Given the description of an element on the screen output the (x, y) to click on. 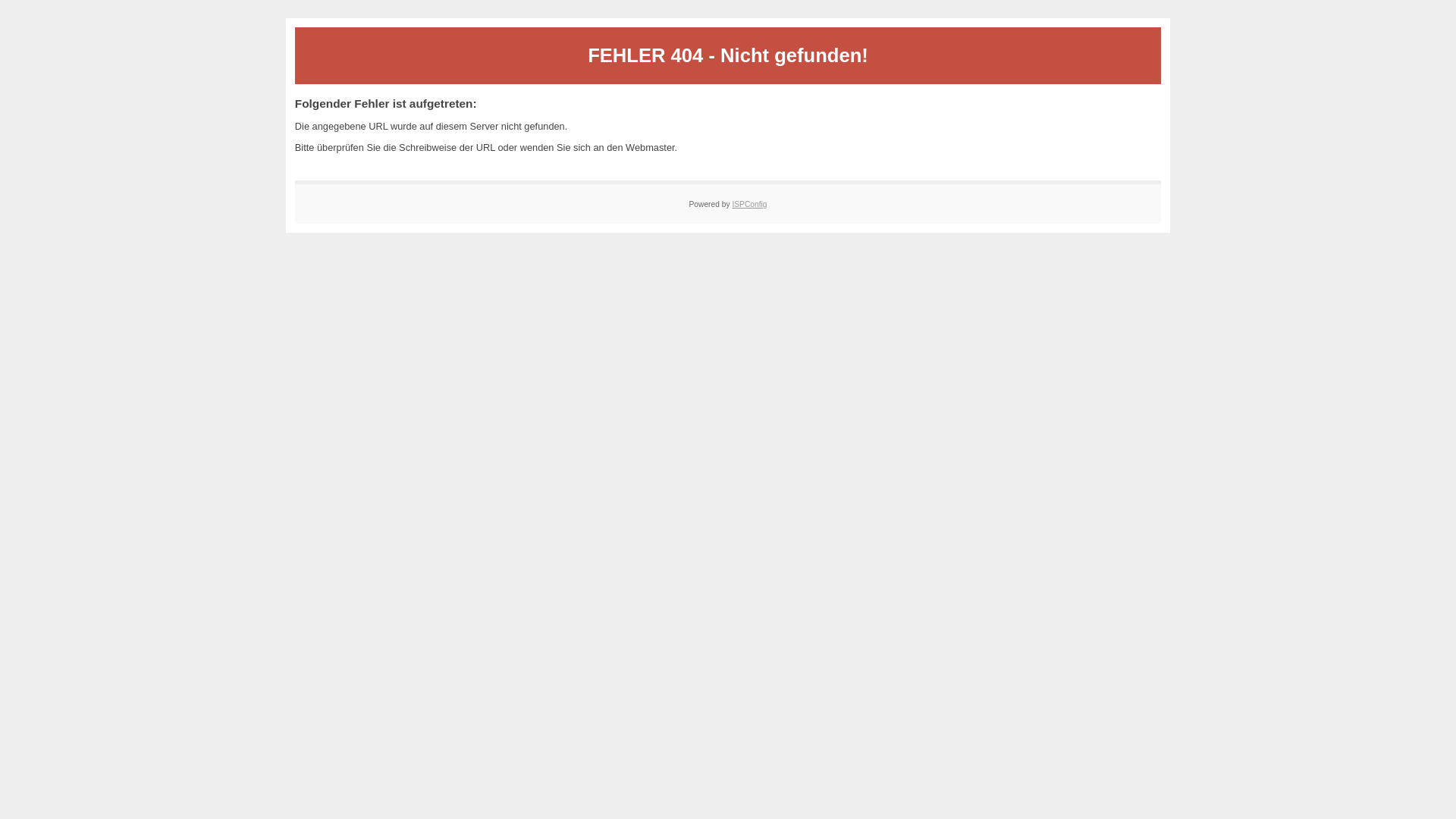
ISPConfig (749, 203)
